Given the description of an element on the screen output the (x, y) to click on. 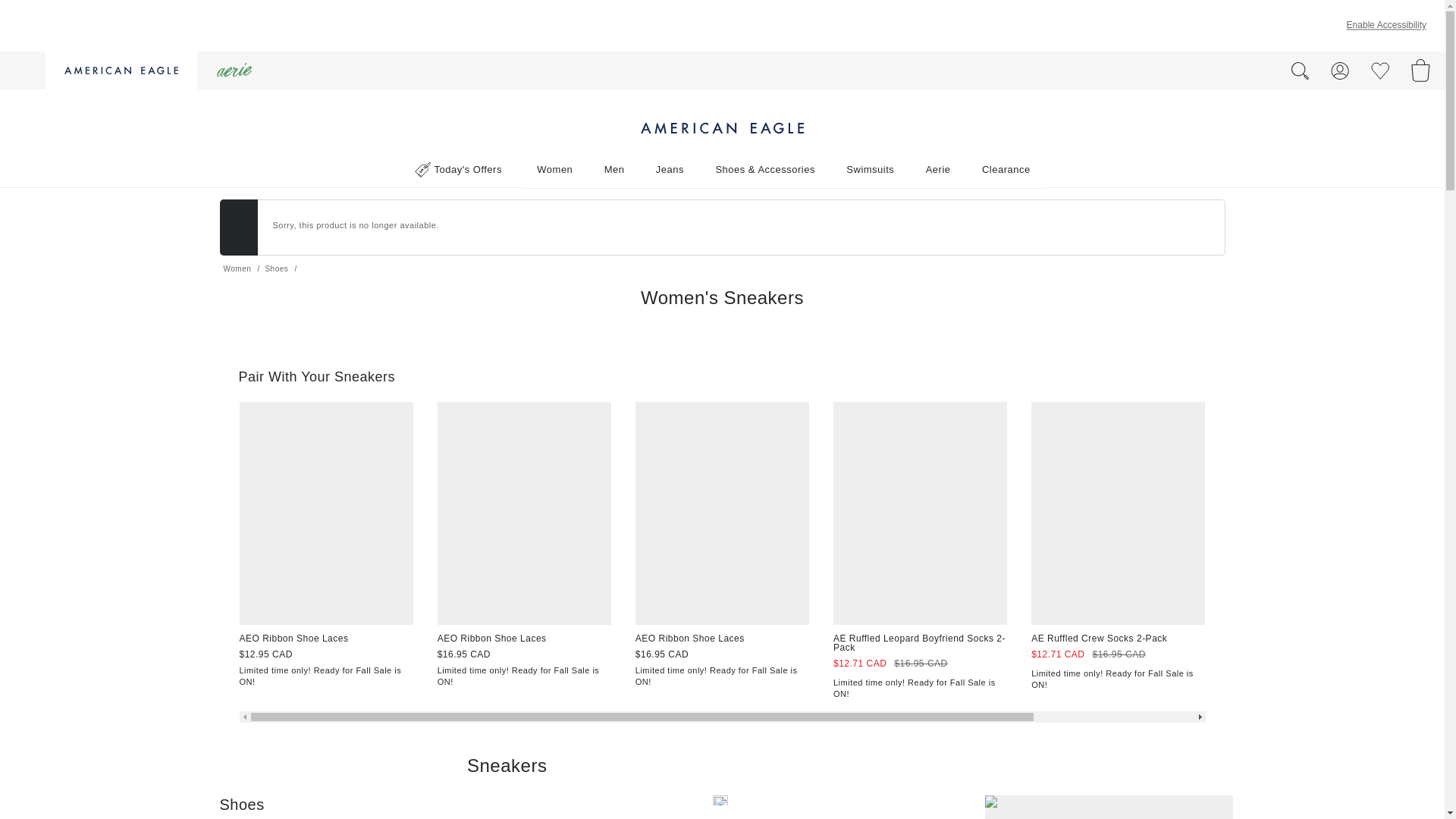
Account (1339, 71)
Go to aeo homepage (120, 70)
Favorites (1379, 71)
Women (554, 169)
Search (1299, 67)
Go to aerie homepage (231, 70)
Today's Offers (458, 168)
Checkout (1420, 73)
Enable Accessibility (1386, 24)
